Given the description of an element on the screen output the (x, y) to click on. 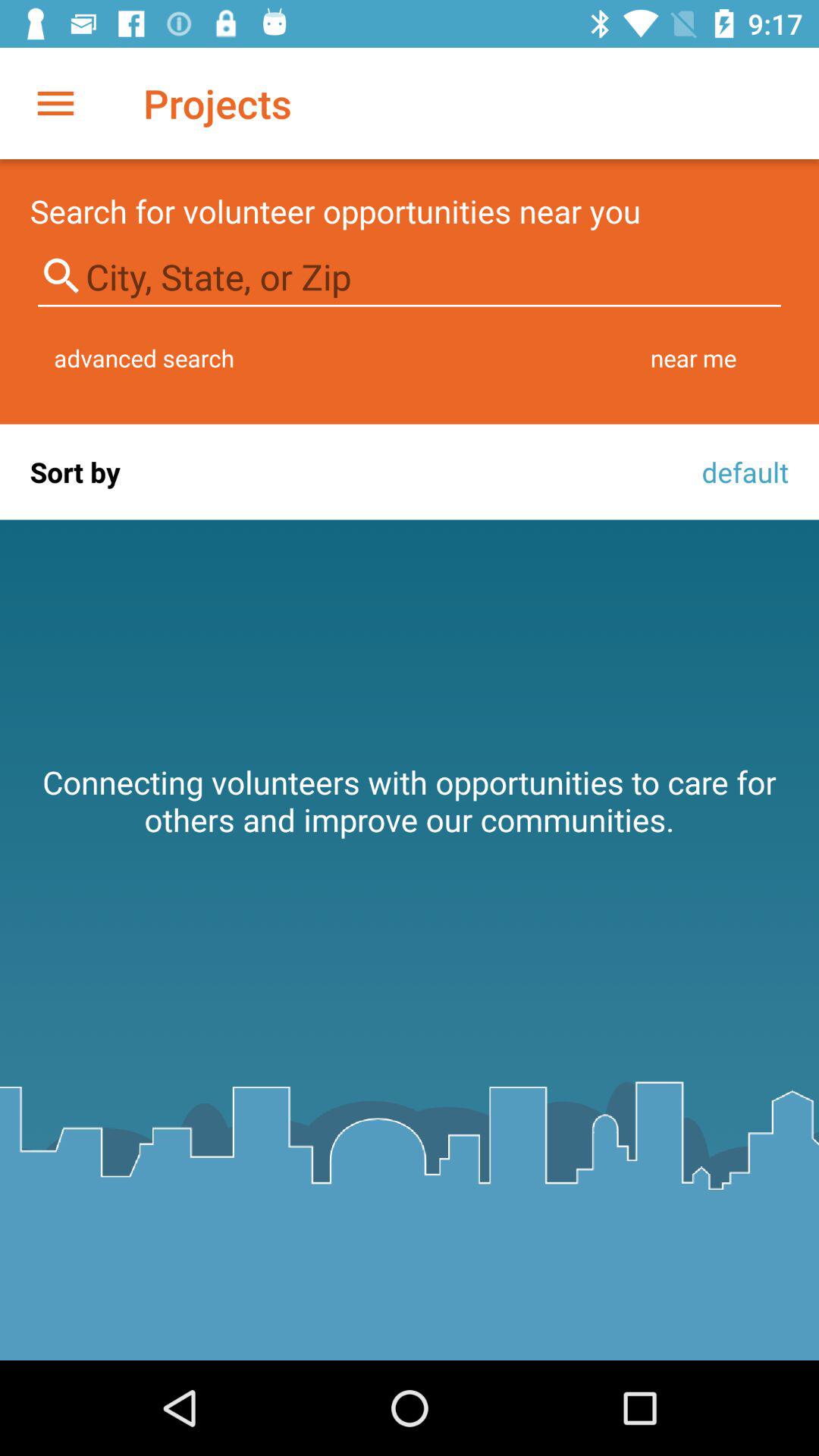
choose near me icon (692, 358)
